Given the description of an element on the screen output the (x, y) to click on. 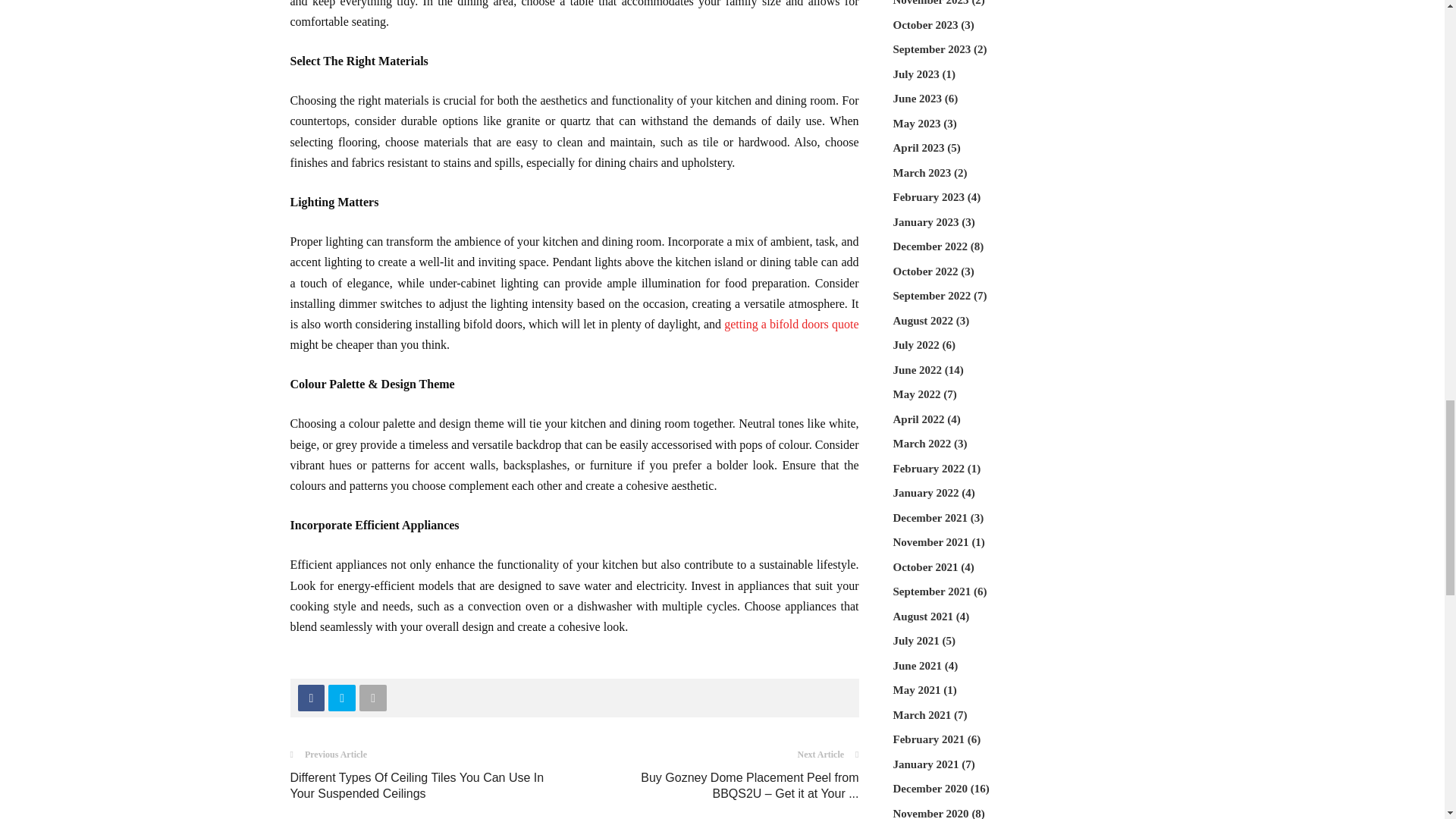
getting a bifold doors quote (791, 323)
